Given the description of an element on the screen output the (x, y) to click on. 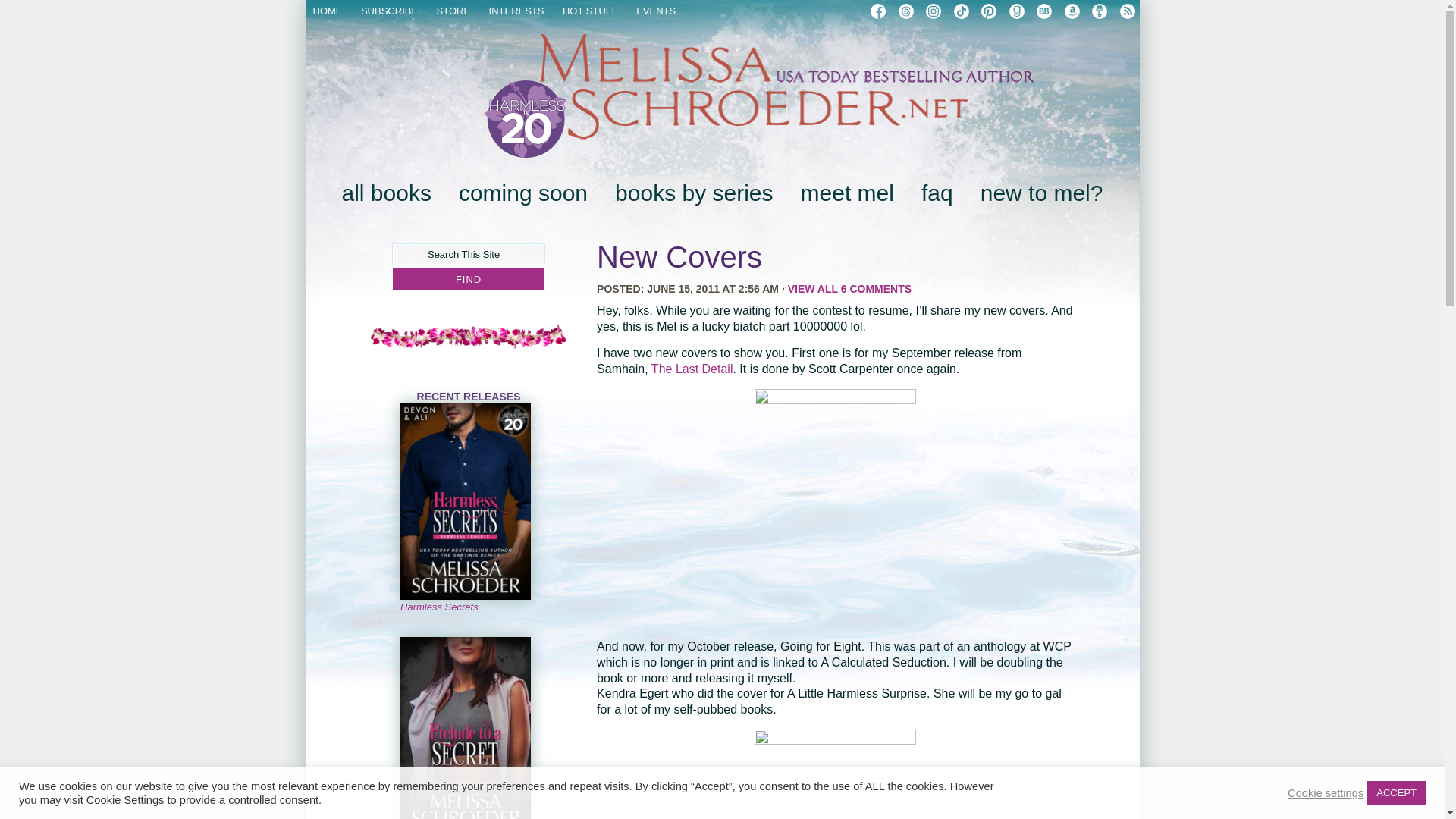
EVENTS (655, 10)
HOT STUFF (589, 10)
Search This Site (468, 254)
Search This Site (468, 254)
Find (468, 279)
HOME (327, 10)
Search for: (468, 254)
new to mel? (1041, 192)
STORE (453, 10)
faq (937, 192)
meet mel (846, 192)
coming soon (523, 192)
books by series (693, 192)
SUBSCRIBE (389, 10)
all books (385, 192)
